Given the description of an element on the screen output the (x, y) to click on. 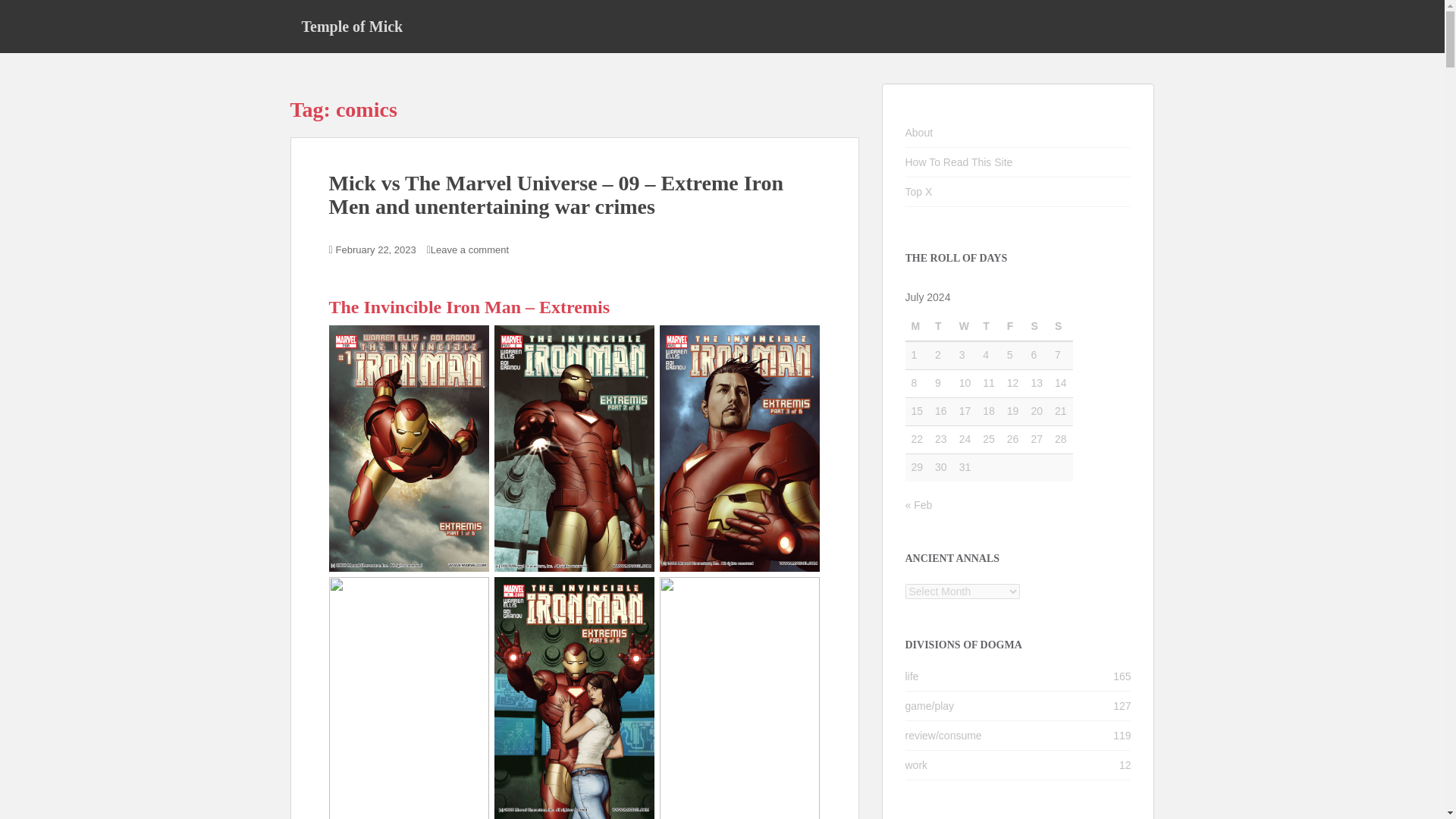
February 22, 2023 (376, 249)
Leave a comment (469, 249)
Temple of Mick (351, 26)
Temple of Mick (351, 26)
